Given the description of an element on the screen output the (x, y) to click on. 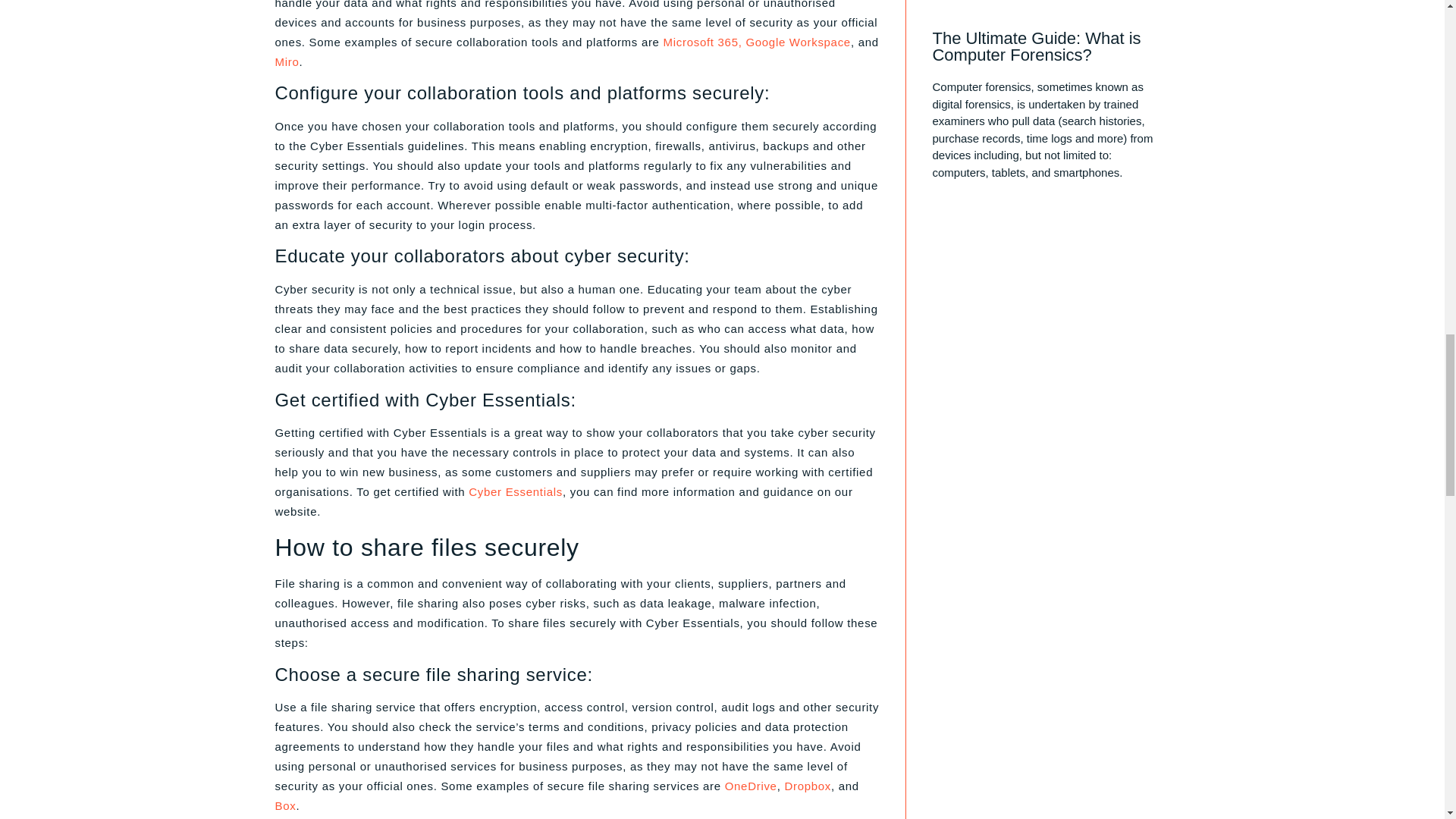
Google Workspace (797, 42)
Microsoft 365, (702, 42)
